Given the description of an element on the screen output the (x, y) to click on. 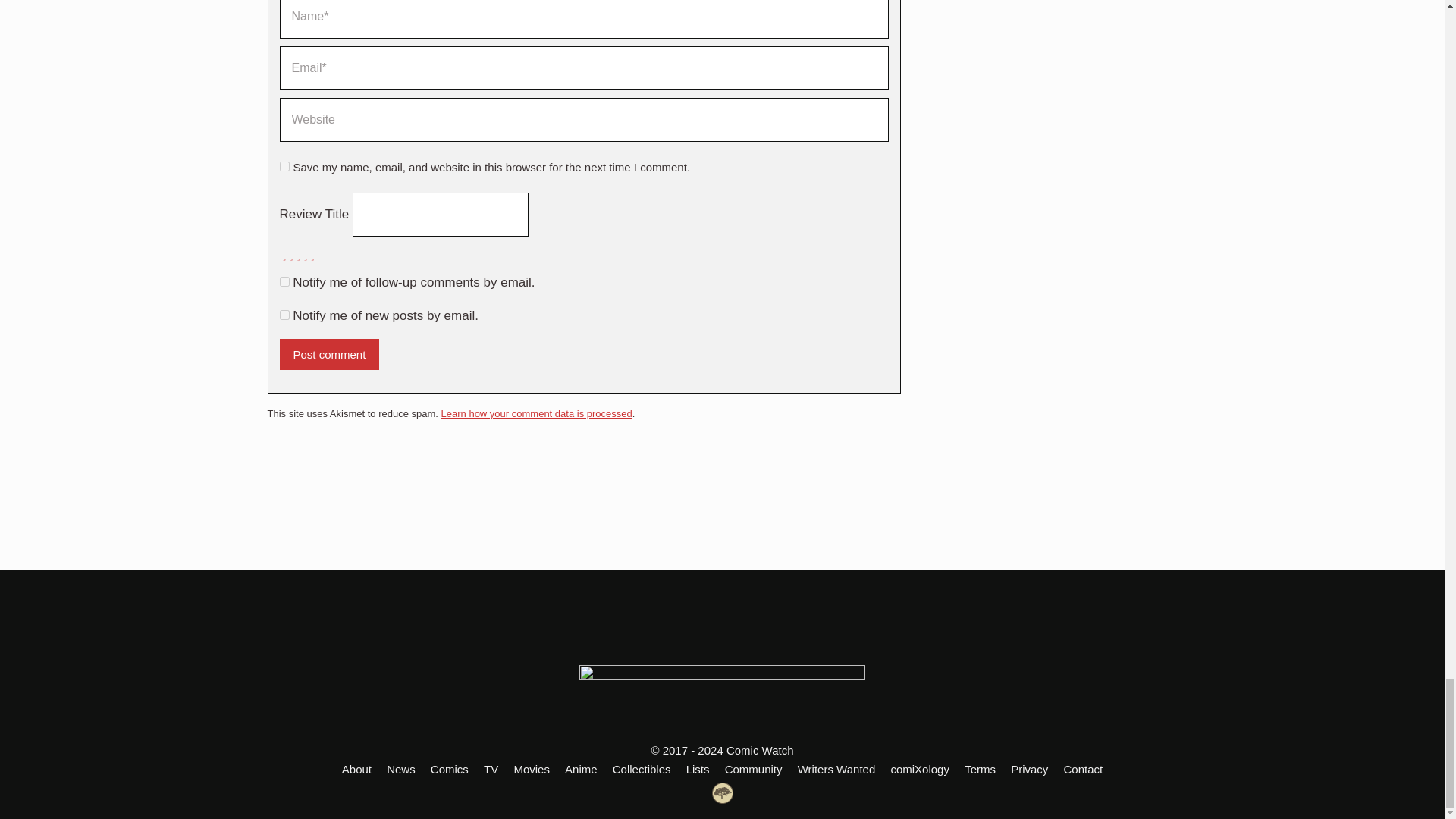
yes (283, 166)
subscribe (283, 281)
subscribe (283, 315)
